Given the description of an element on the screen output the (x, y) to click on. 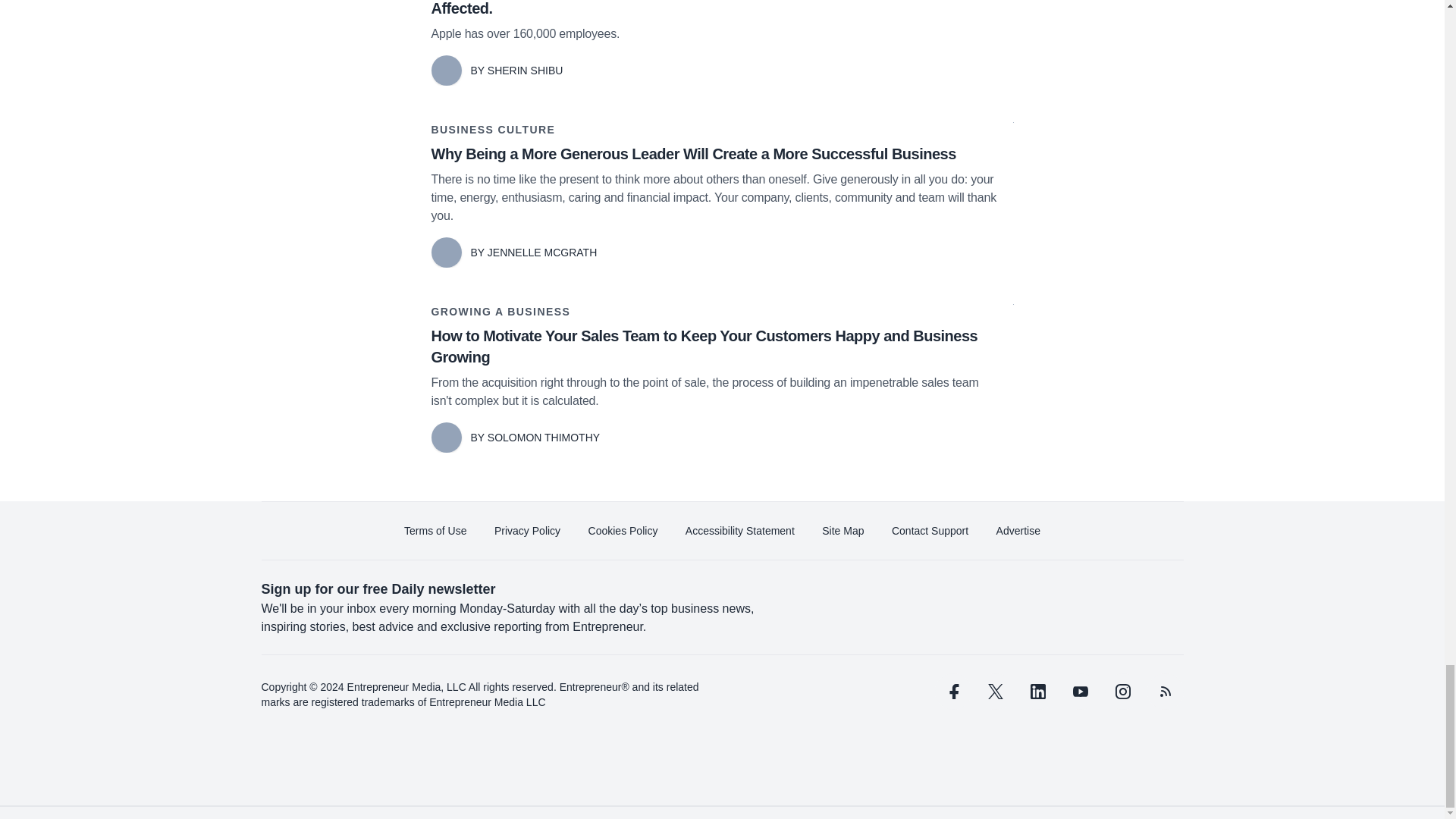
linkedin (1037, 691)
instagram (1121, 691)
twitter (994, 691)
rss (1164, 691)
youtube (1079, 691)
facebook (952, 691)
